Given the description of an element on the screen output the (x, y) to click on. 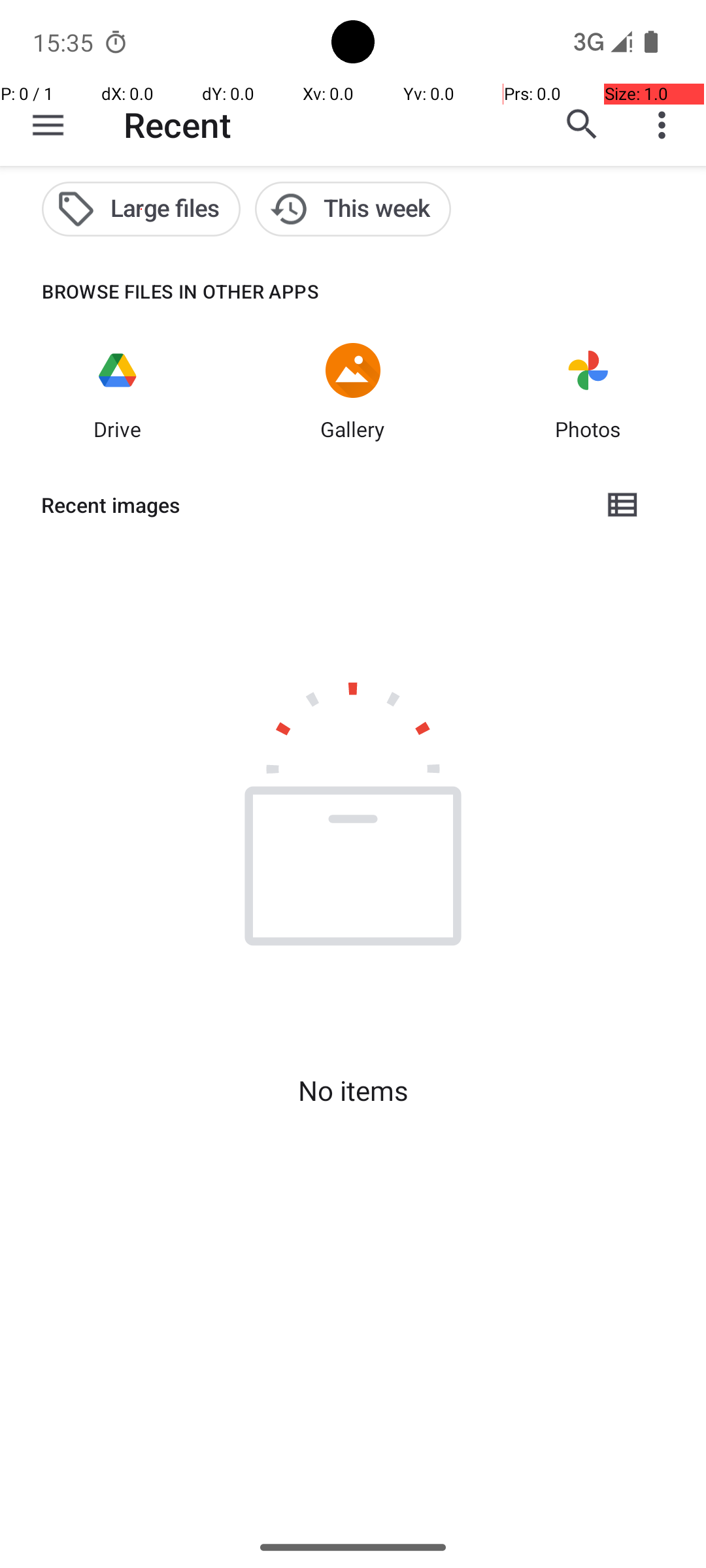
Recent images Element type: android.widget.TextView (311, 504)
